Given the description of an element on the screen output the (x, y) to click on. 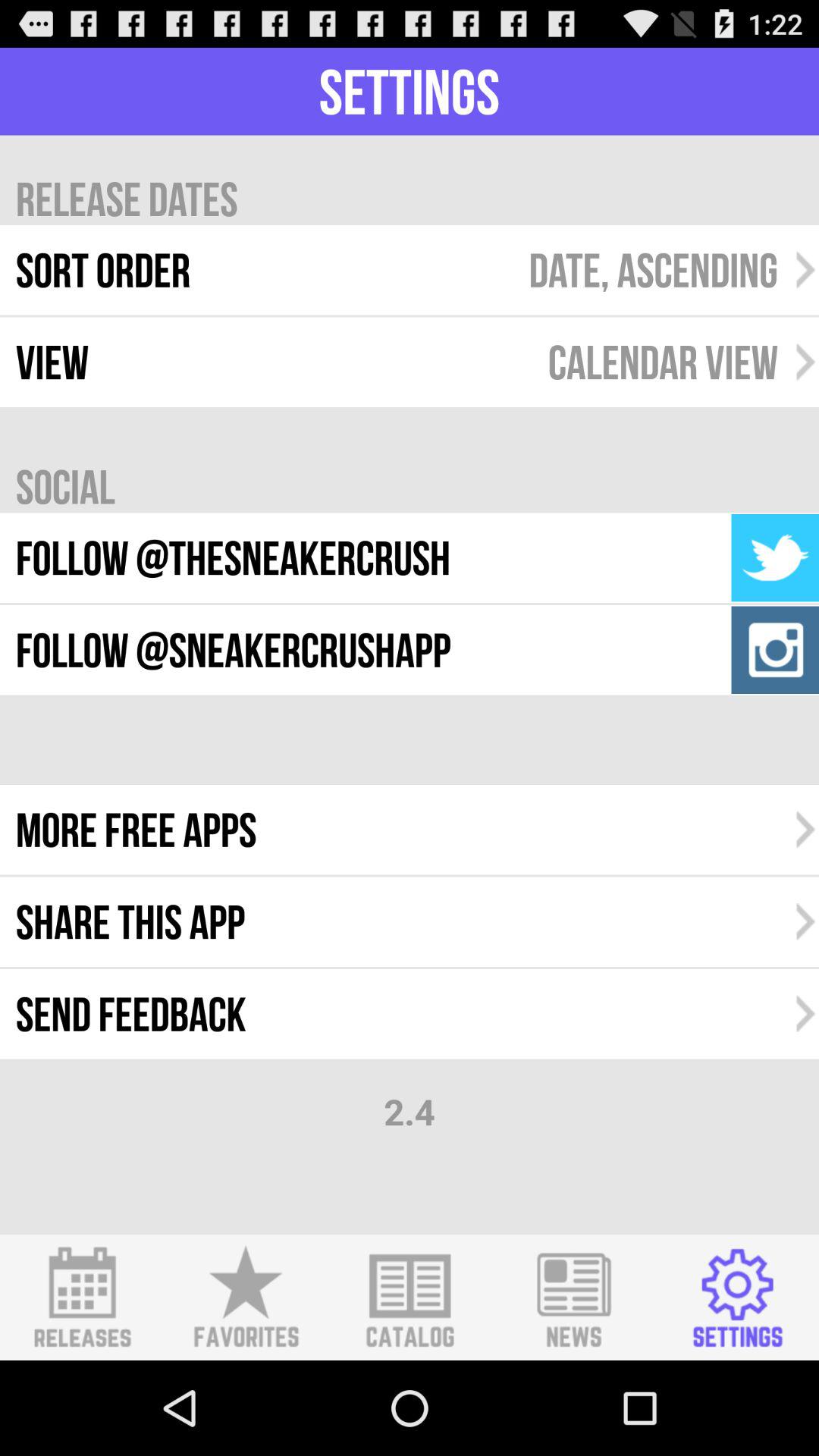
scroll to calendar view icon (663, 362)
